Given the description of an element on the screen output the (x, y) to click on. 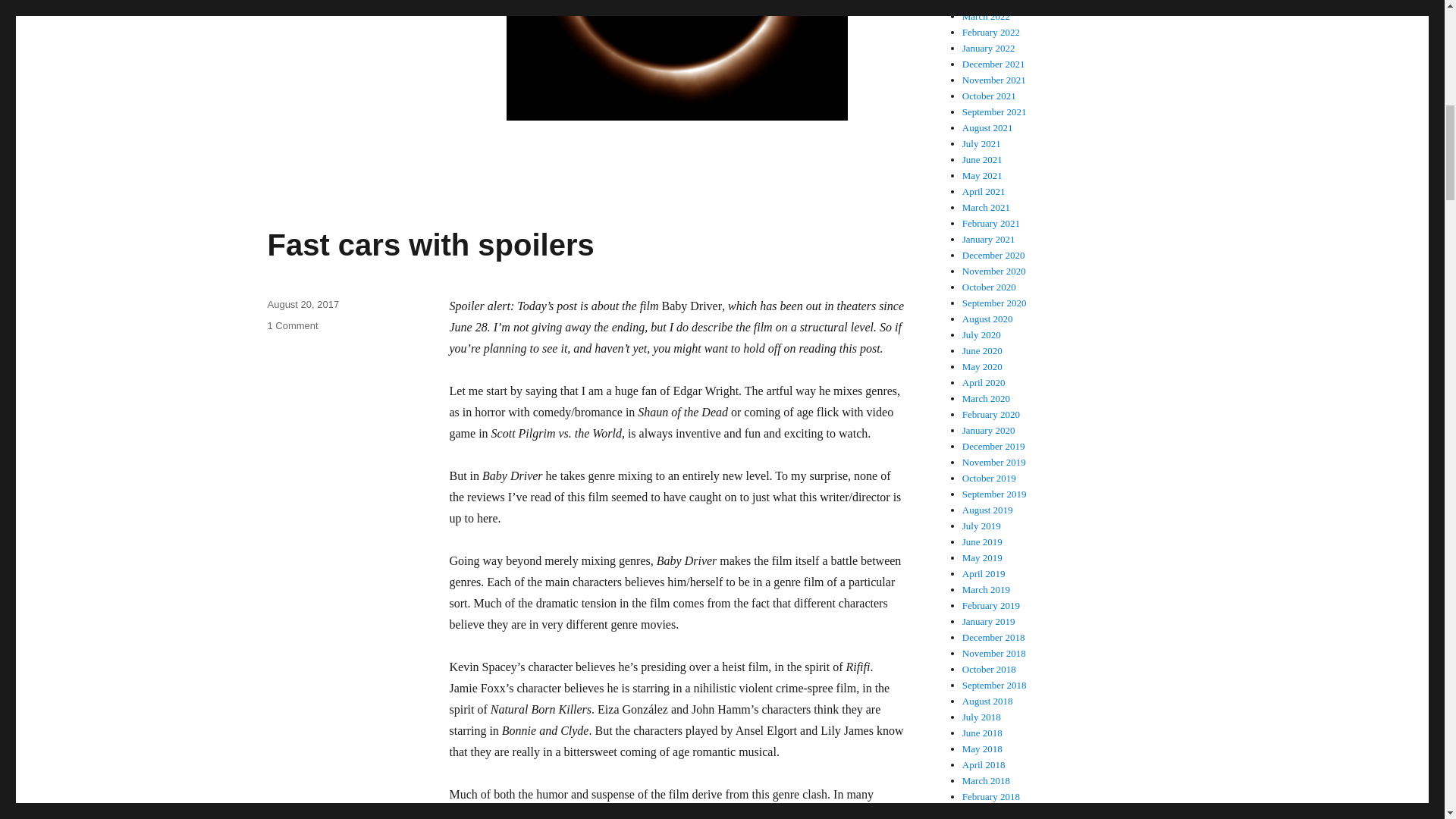
August 20, 2017 (302, 304)
Fast cars with spoilers (430, 244)
